Given the description of an element on the screen output the (x, y) to click on. 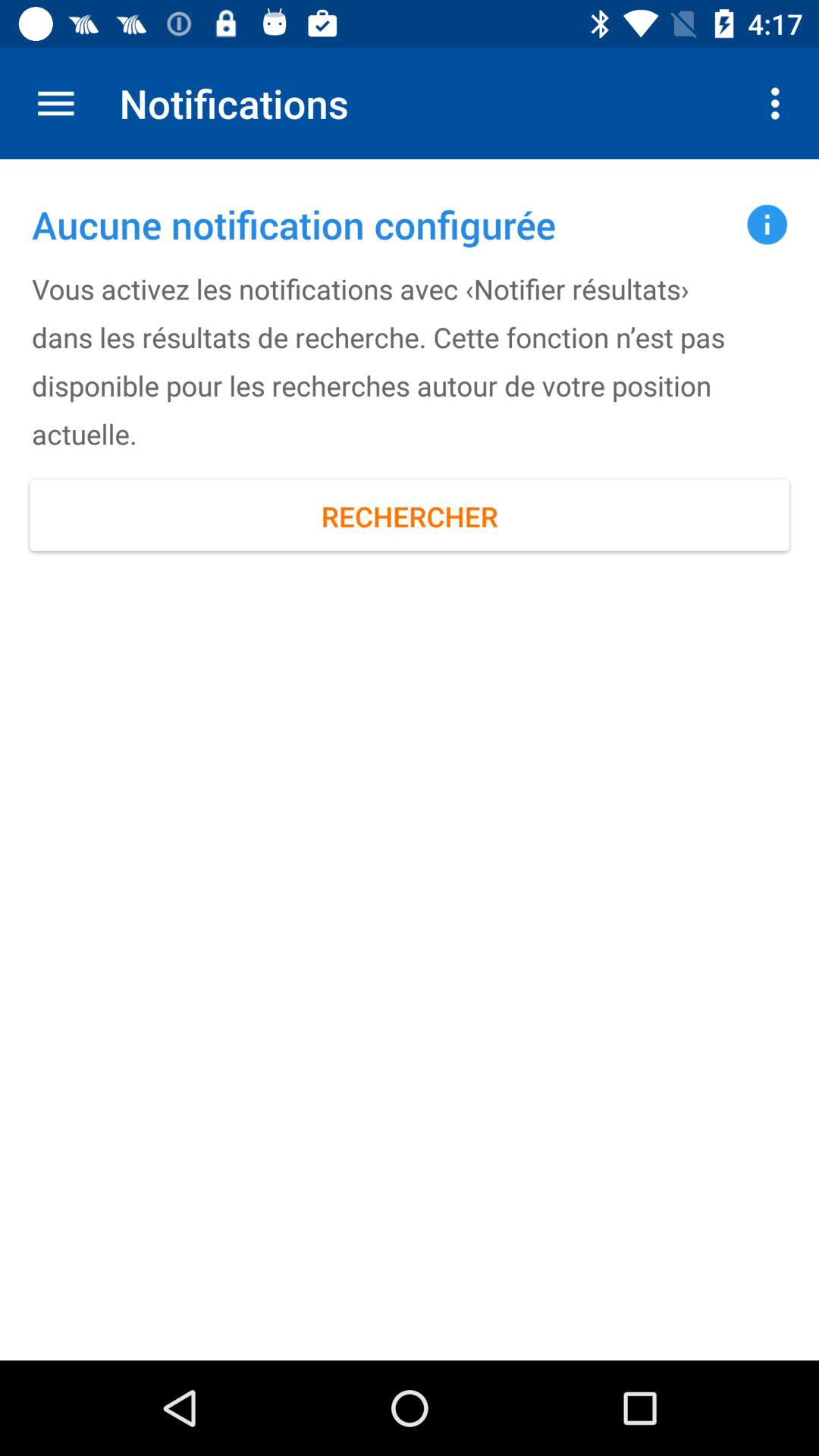
choose icon at the center (409, 516)
